Given the description of an element on the screen output the (x, y) to click on. 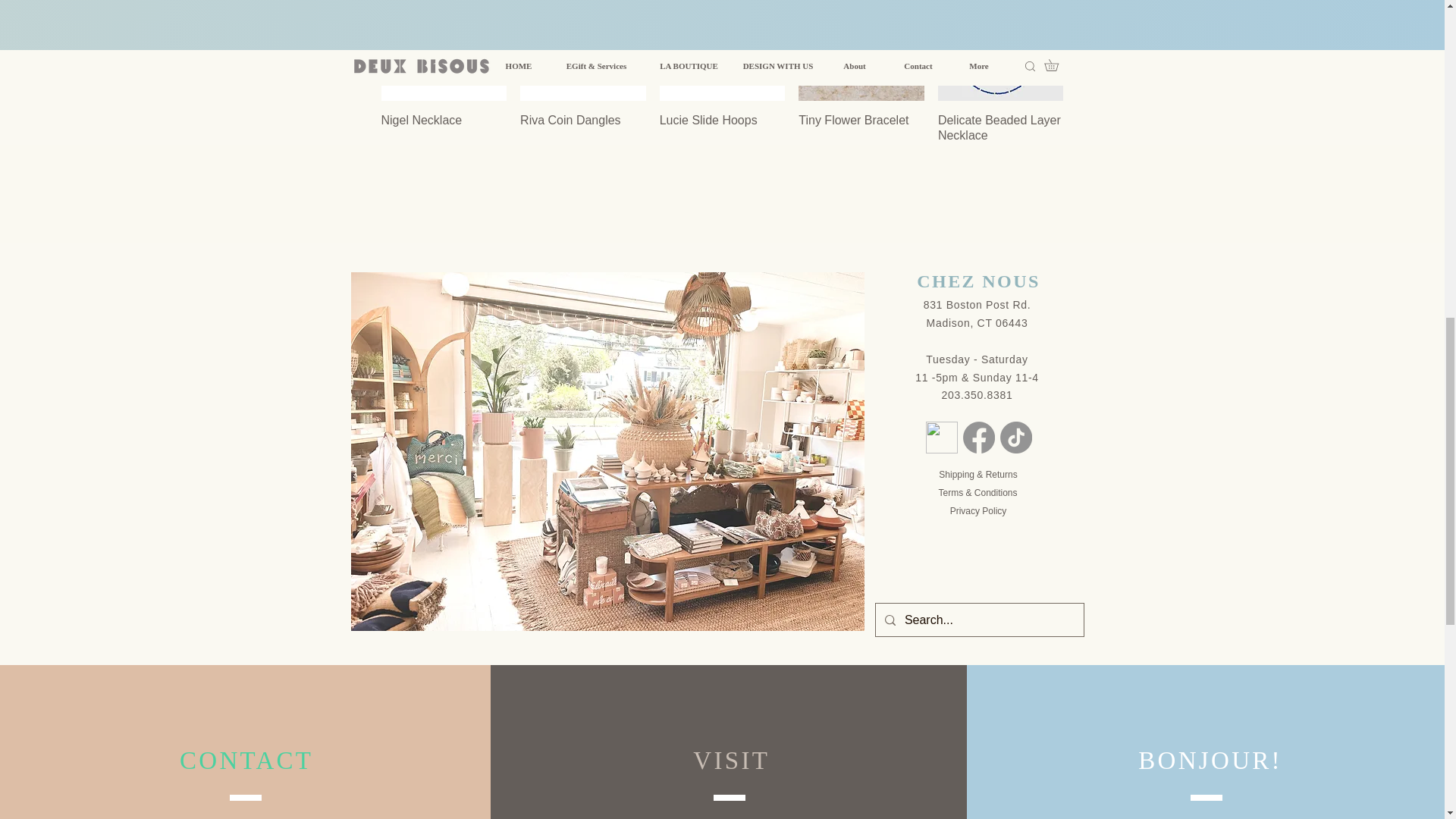
Riva Coin Dangles (582, 135)
Tiny Flower Bracelet (860, 135)
Lucie Slide Hoops (722, 135)
Nigel Necklace (443, 135)
